Given the description of an element on the screen output the (x, y) to click on. 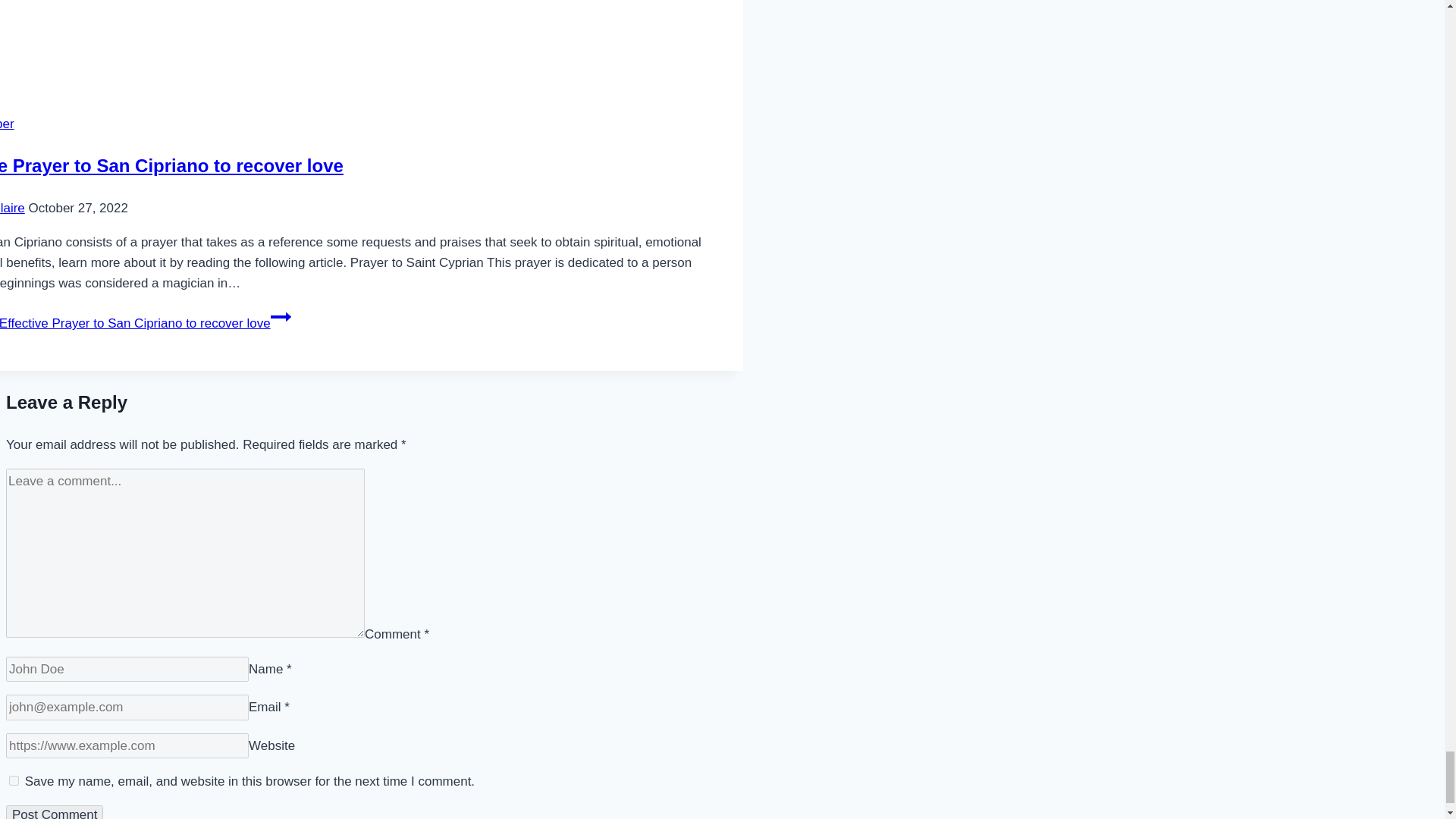
Continue (280, 316)
yes (13, 780)
